Given the description of an element on the screen output the (x, y) to click on. 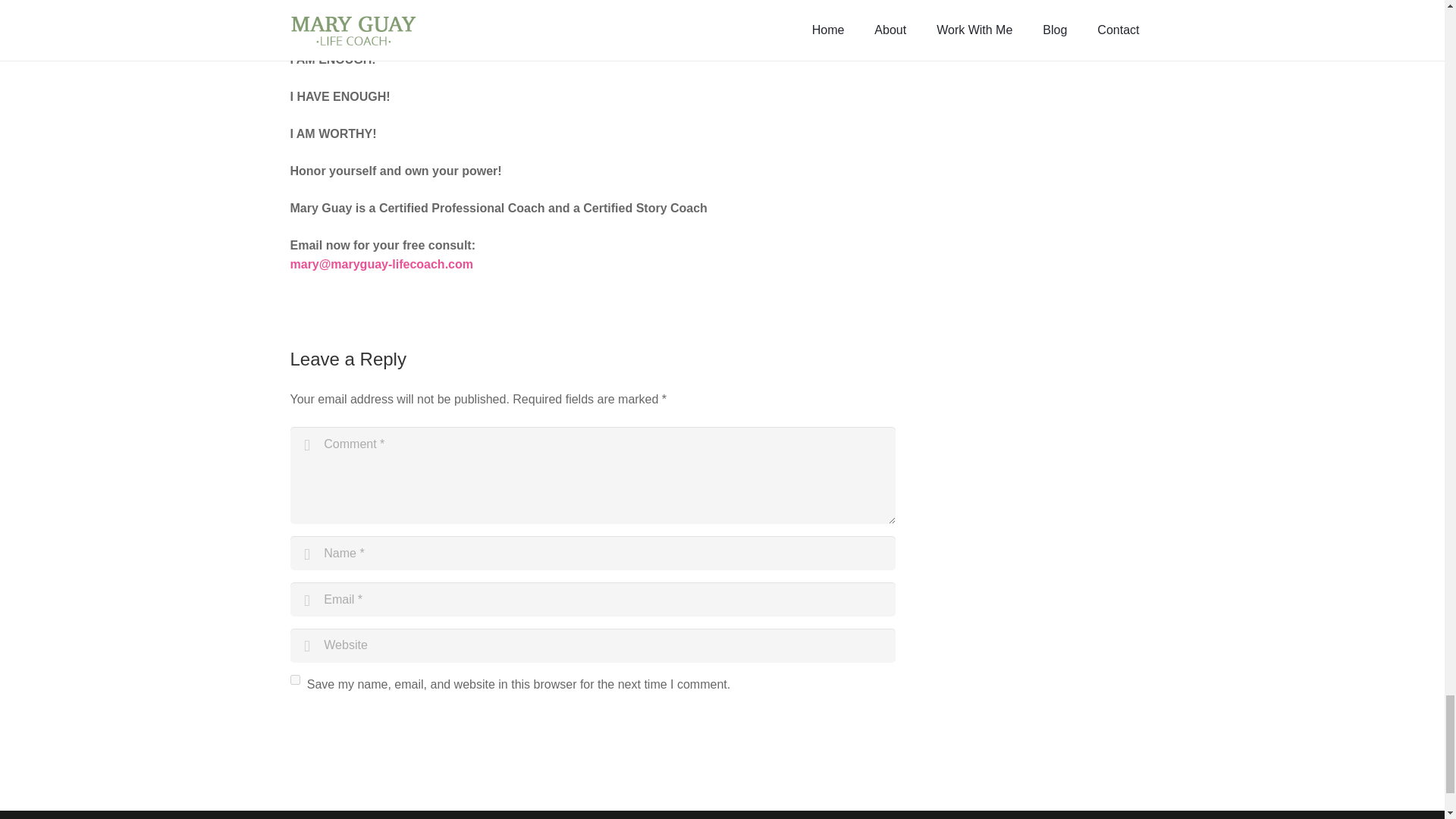
Post Comment (347, 727)
yes (294, 679)
Post Comment (347, 727)
